Given the description of an element on the screen output the (x, y) to click on. 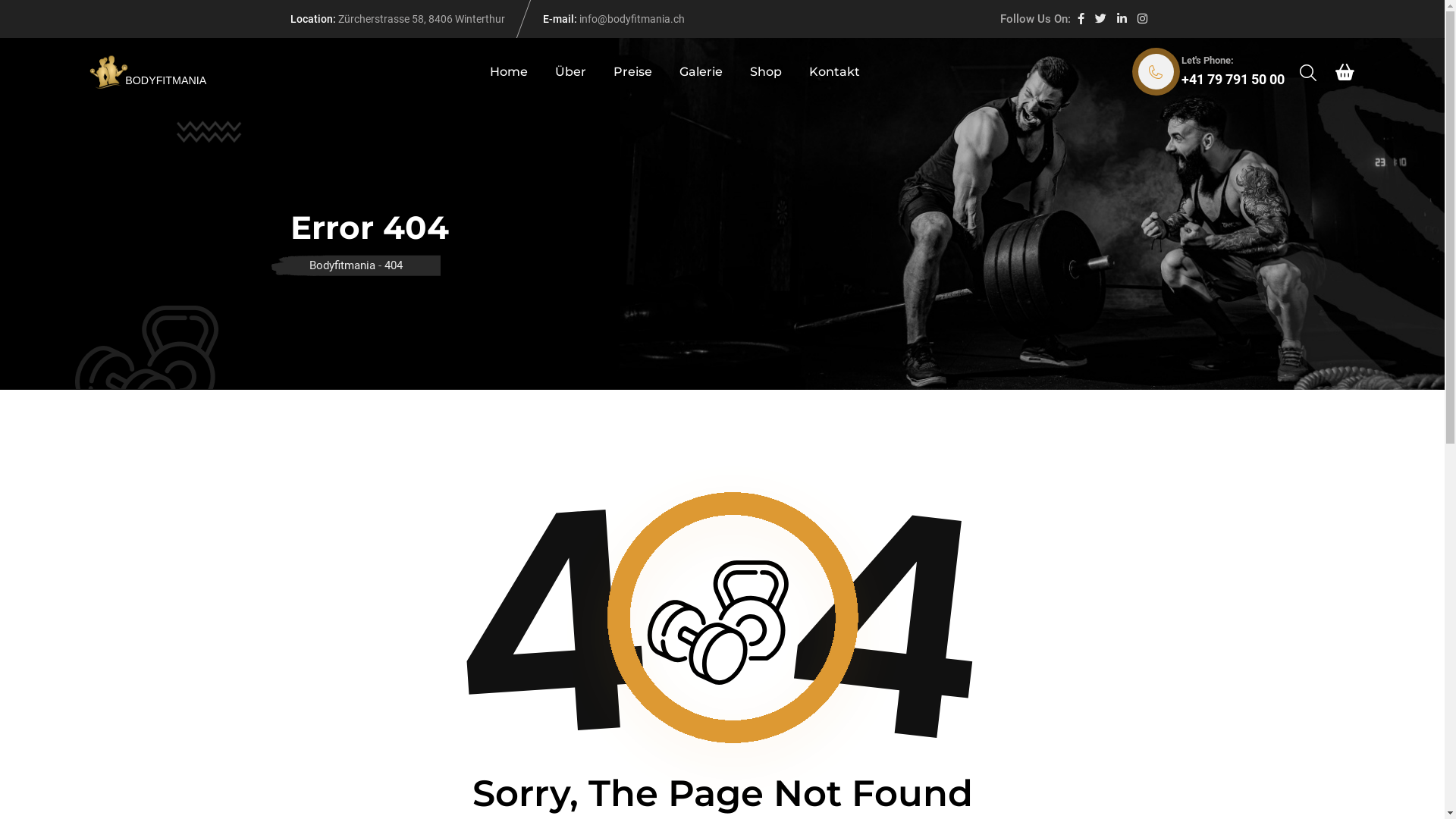
info@bodyfitmania.ch Element type: text (631, 18)
info@bodyfitmania.ch Element type: text (375, 653)
Let's Phone:
+41 79 791 50 00 Element type: text (1210, 72)
Lean Machines Element type: text (552, 586)
404 Element type: text (392, 265)
Fitness Classes Element type: text (552, 487)
Power Yoga Element type: text (542, 553)
Home Element type: text (508, 71)
+41797915000 Element type: text (357, 621)
Datenschutz Element type: text (1045, 771)
Full-Body Strength Element type: text (560, 619)
Bodyfitmania Element type: text (342, 265)
Galerie Element type: text (700, 71)
View your shopping cart Element type: hover (1343, 71)
Impressum Element type: text (1124, 771)
Preise Element type: text (632, 71)
Shop Element type: text (765, 71)
// Element type: text (1087, 771)
Search Element type: hover (1307, 72)
Kontakt Element type: text (834, 71)
Aerobics Classes Element type: text (556, 520)
